Given the description of an element on the screen output the (x, y) to click on. 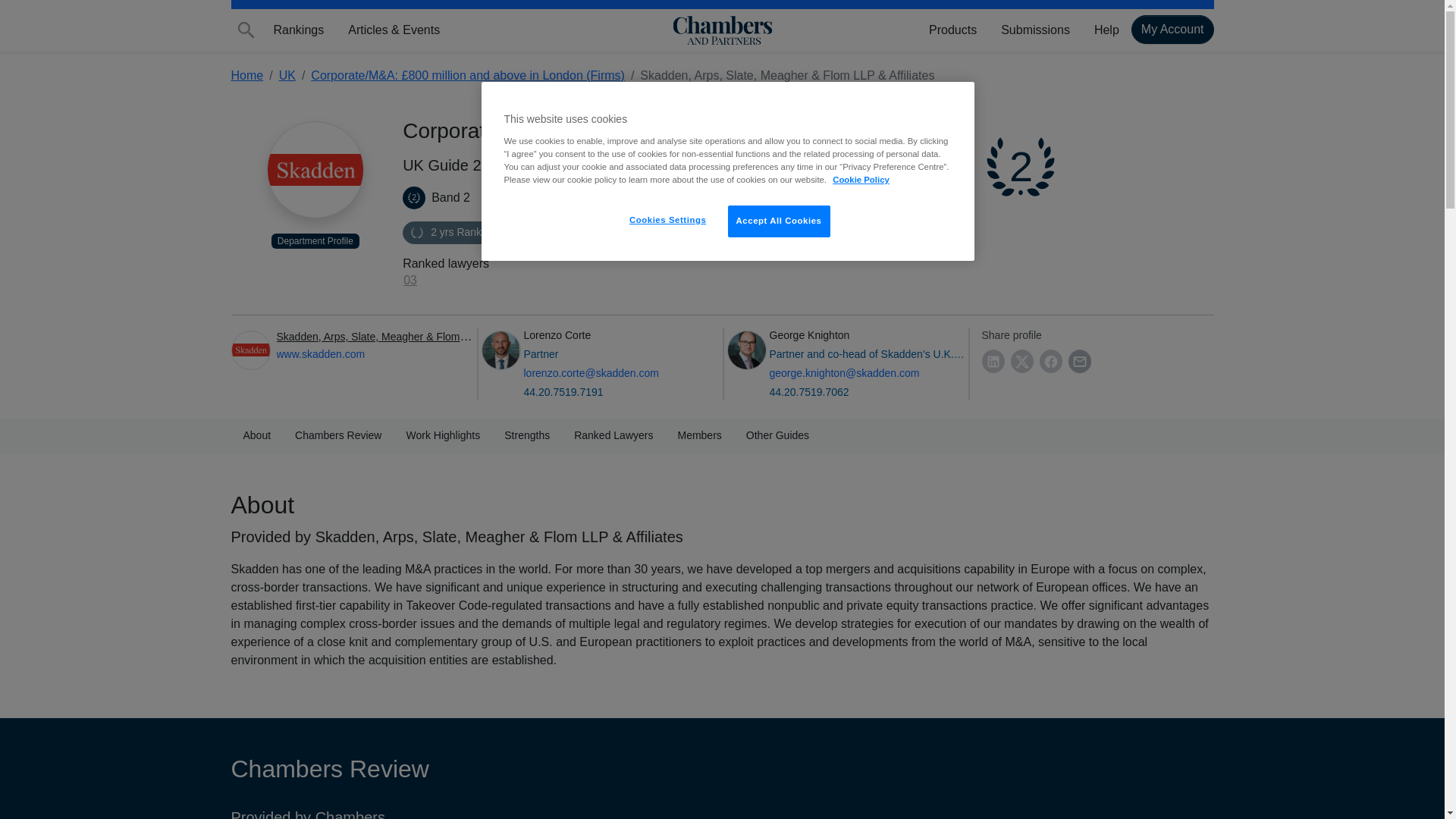
Band 2 (414, 197)
View ranking history (462, 232)
44.20.7519.7062 (865, 392)
George Knighton (745, 350)
Band 2 (1020, 166)
Products (952, 30)
Share this on LinkedIn (992, 361)
Partner (590, 354)
Share this on Facebook (1050, 361)
Rankings (298, 30)
44.20.7519.7191 (590, 392)
Lorenzo Corte (499, 350)
Share this on X (1021, 361)
Share this via Email (1078, 361)
